Given the description of an element on the screen output the (x, y) to click on. 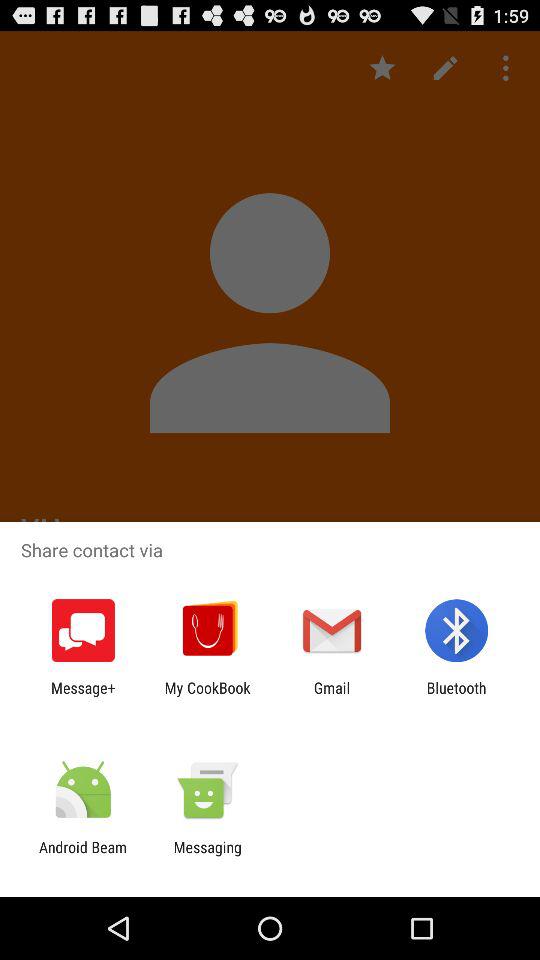
open icon next to the my cookbook icon (83, 696)
